Given the description of an element on the screen output the (x, y) to click on. 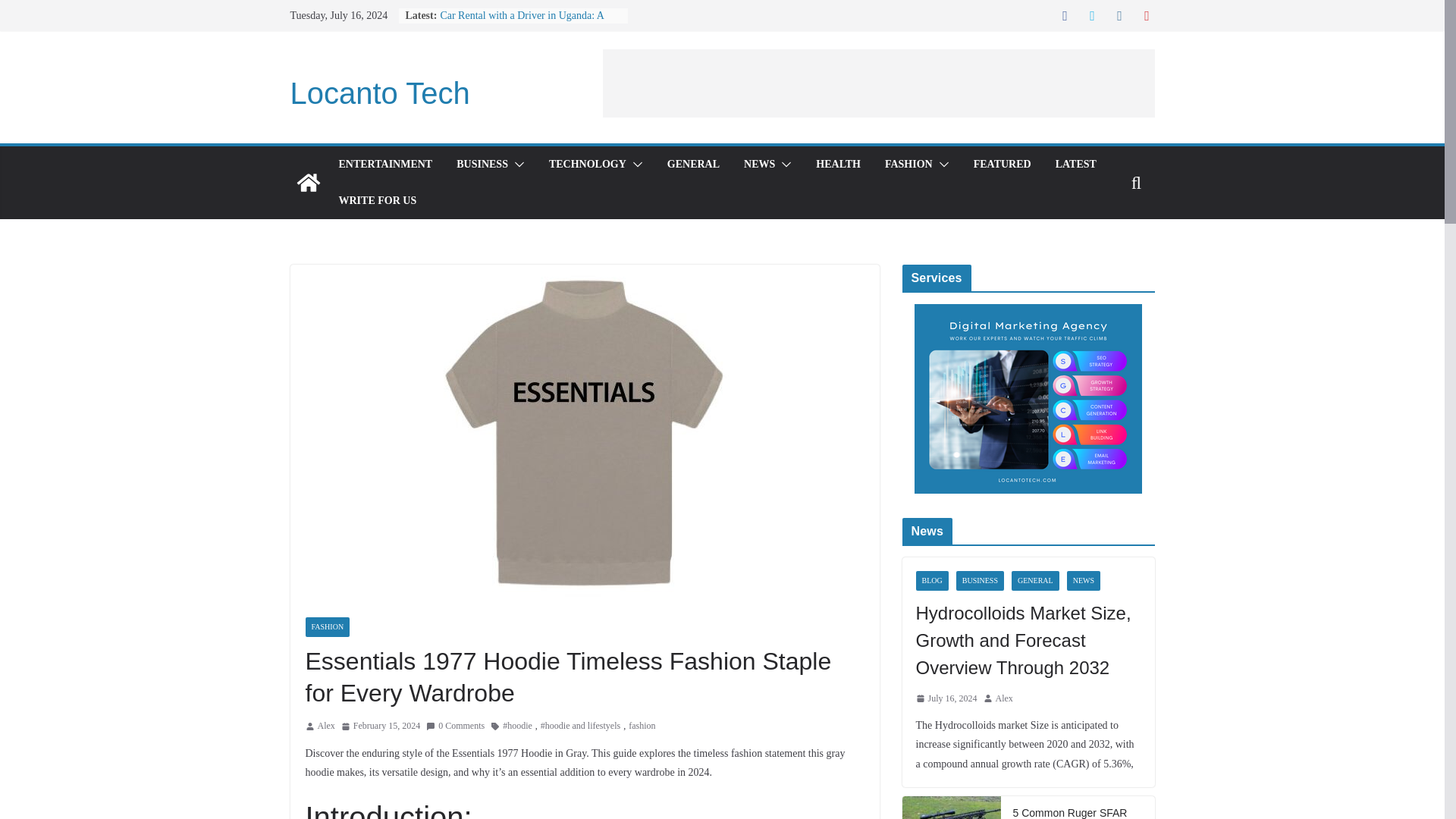
February 15, 2024 (380, 726)
BUSINESS (482, 164)
0 Comments (455, 726)
Advertisement (878, 83)
7:07 am (380, 726)
LATEST (1075, 164)
Alex (325, 726)
NEWS (759, 164)
Car Rental with a Driver in Uganda: A Comprehensive Guide (521, 22)
TECHNOLOGY (587, 164)
FASHION (909, 164)
FEATURED (1002, 164)
Locanto Tech (307, 182)
Car Rental with a Driver in Uganda: A Comprehensive Guide (521, 22)
8:39 am (945, 699)
